Given the description of an element on the screen output the (x, y) to click on. 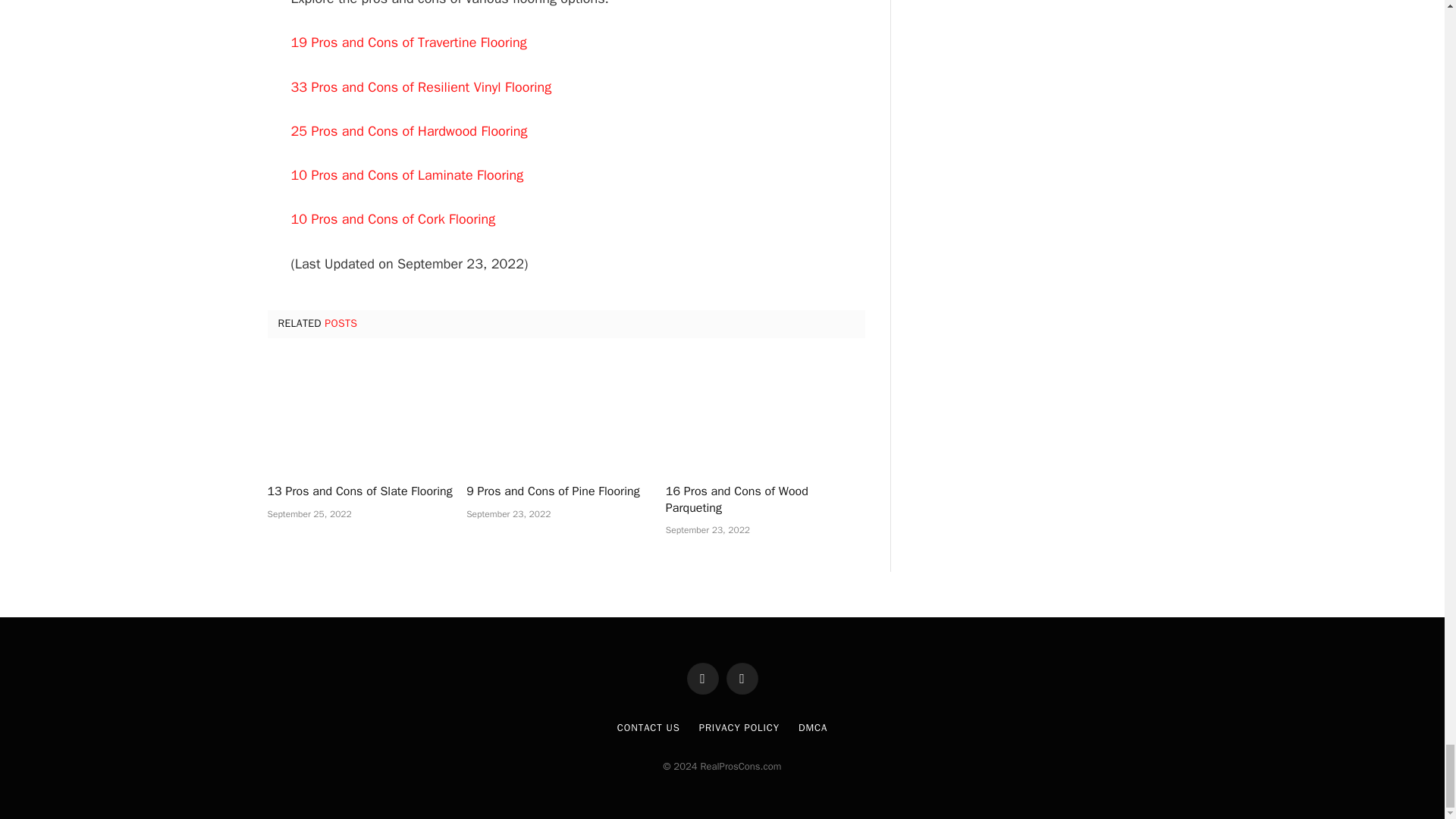
10 Pros and Cons of Laminate Flooring (407, 175)
33 Pros and Cons of Resilient Vinyl Flooring (421, 86)
13 Pros and Cons of Slate Flooring (365, 492)
9 Pros and Cons of Pine Flooring (565, 492)
19 Pros and Cons of Travertine Flooring (409, 42)
16 Pros and Cons of Wood Parqueting (764, 500)
25 Pros and Cons of Hardwood Flooring (409, 130)
10 Pros and Cons of Cork Flooring (393, 218)
